Given the description of an element on the screen output the (x, y) to click on. 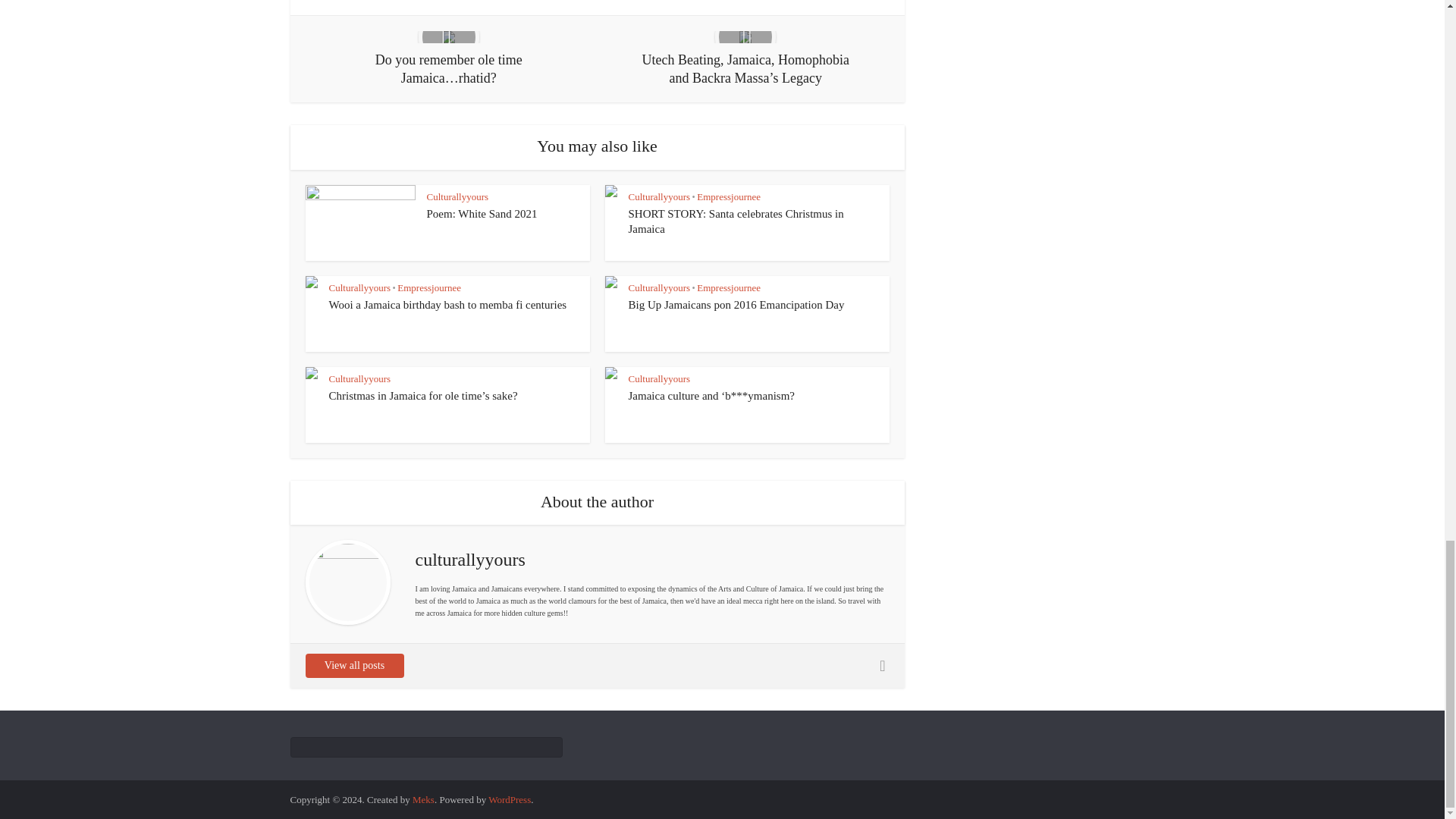
Empressjournee (429, 287)
Empressjournee (728, 287)
Poem: White Sand 2021 (481, 214)
SHORT STORY: Santa celebrates Christmus in Jamaica (735, 221)
Big Up Jamaicans pon 2016 Emancipation Day (735, 304)
Culturallyyours (658, 196)
Wooi a Jamaica birthday bash to memba fi centuries (448, 304)
Big Up Jamaicans pon 2016 Emancipation Day (735, 304)
Culturallyyours (456, 196)
Empressjournee (728, 196)
